Given the description of an element on the screen output the (x, y) to click on. 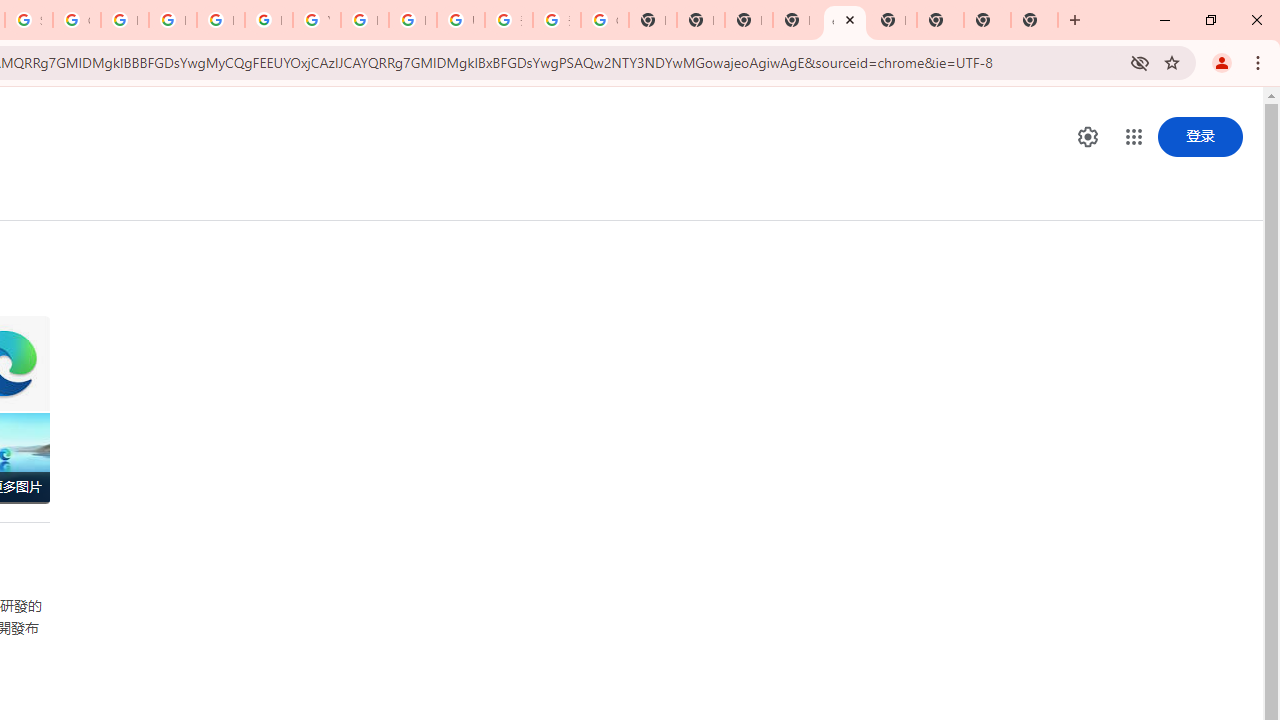
Privacy Help Center - Policies Help (124, 20)
New Tab (1034, 20)
Privacy Help Center - Policies Help (172, 20)
YouTube (316, 20)
Google Images (604, 20)
